Given the description of an element on the screen output the (x, y) to click on. 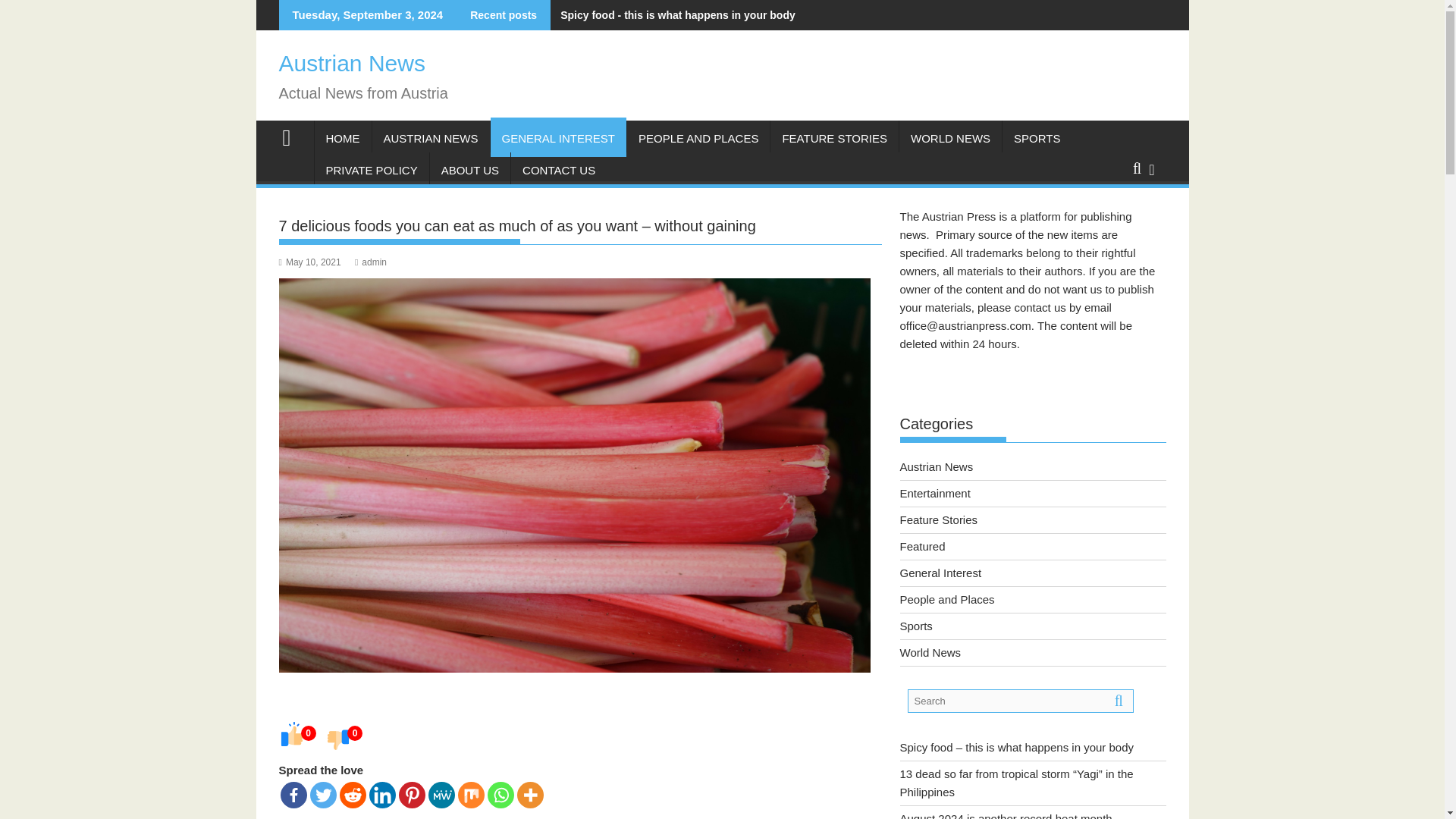
Austrian News (293, 136)
HOME (342, 138)
Linkedin (381, 795)
MeWe (441, 795)
Facebook (294, 795)
Twitter (322, 795)
PEOPLE AND PLACES (698, 138)
CONTACT US (559, 170)
AUSTRIAN NEWS (430, 138)
Austrian News (352, 63)
